Given the description of an element on the screen output the (x, y) to click on. 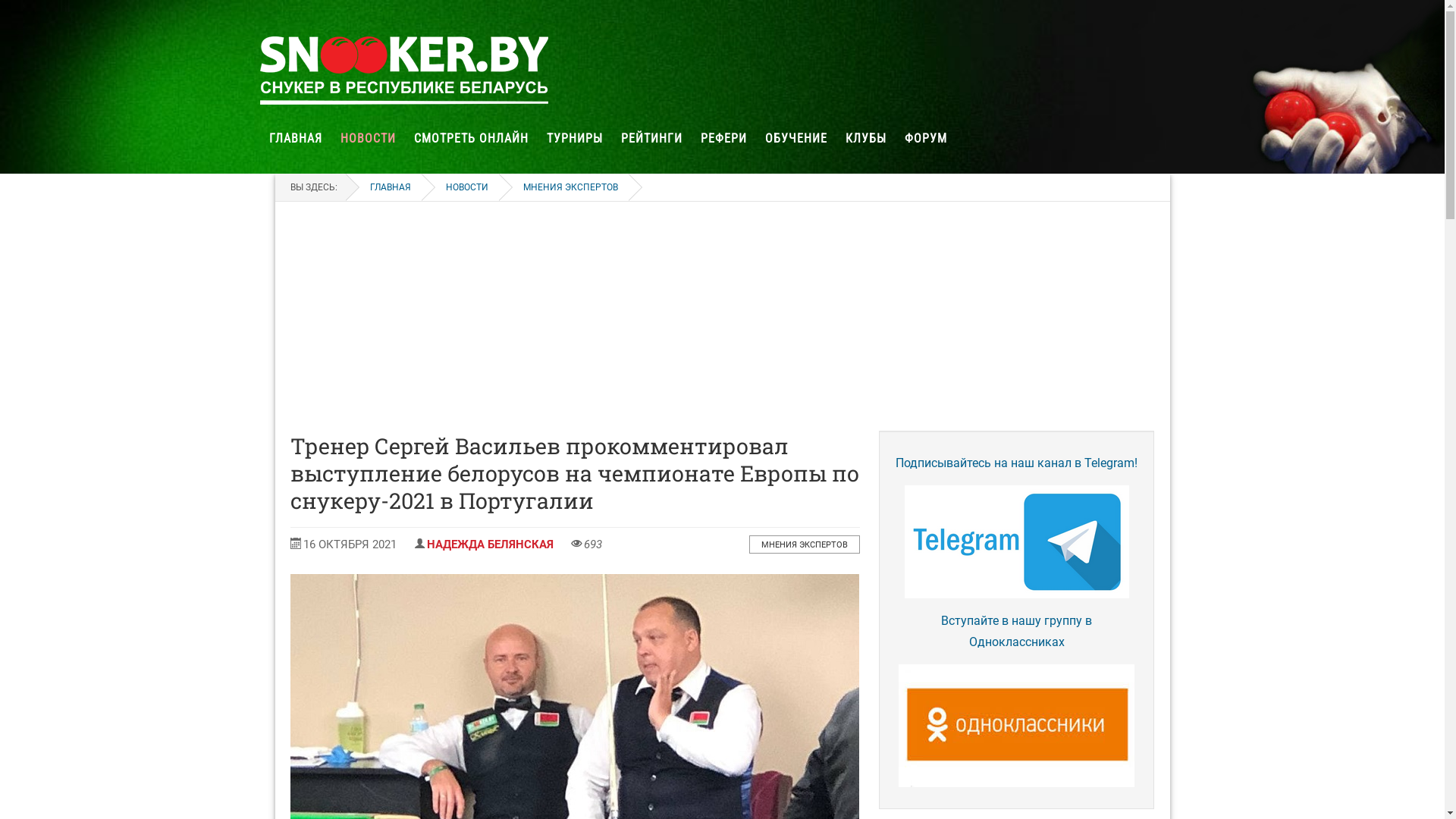
Advertisement Element type: hover (721, 316)
